Given the description of an element on the screen output the (x, y) to click on. 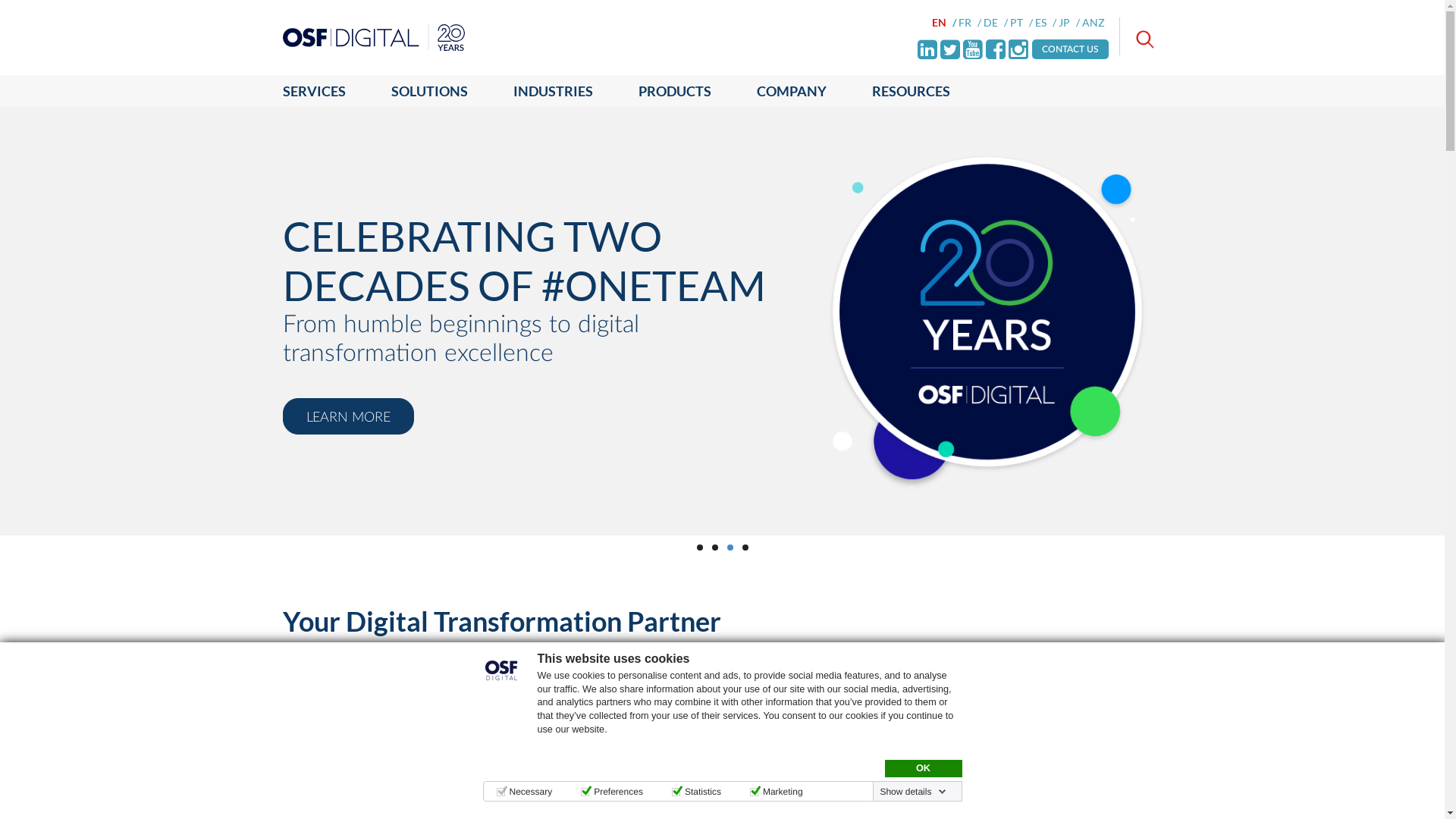
Instagram Element type: text (1018, 48)
LEARN MORE Element type: text (347, 430)
CONTACT US Element type: text (1070, 49)
4 Element type: text (744, 547)
3 Element type: text (729, 547)
OK Element type: text (922, 768)
Go Element type: text (9, 9)
RESOURCES Element type: text (910, 90)
Facebook Element type: text (995, 48)
PT Element type: text (1021, 21)
1 Element type: text (699, 547)
LinkedIn Element type: text (927, 48)
COMPANY Element type: text (791, 90)
SERVICES Element type: text (324, 90)
PRODUCTS Element type: text (674, 90)
INDUSTRIES Element type: text (552, 90)
SOLUTIONS Element type: text (429, 90)
FR Element type: text (969, 21)
2 Element type: text (714, 547)
JP Element type: text (1068, 21)
Show details Element type: text (912, 791)
Twitter Element type: text (950, 48)
Youtube Element type: text (972, 48)
EN Element type: text (943, 21)
ANZ Element type: text (1095, 21)
DE Element type: text (995, 21)
ES Element type: text (1045, 21)
